Given the description of an element on the screen output the (x, y) to click on. 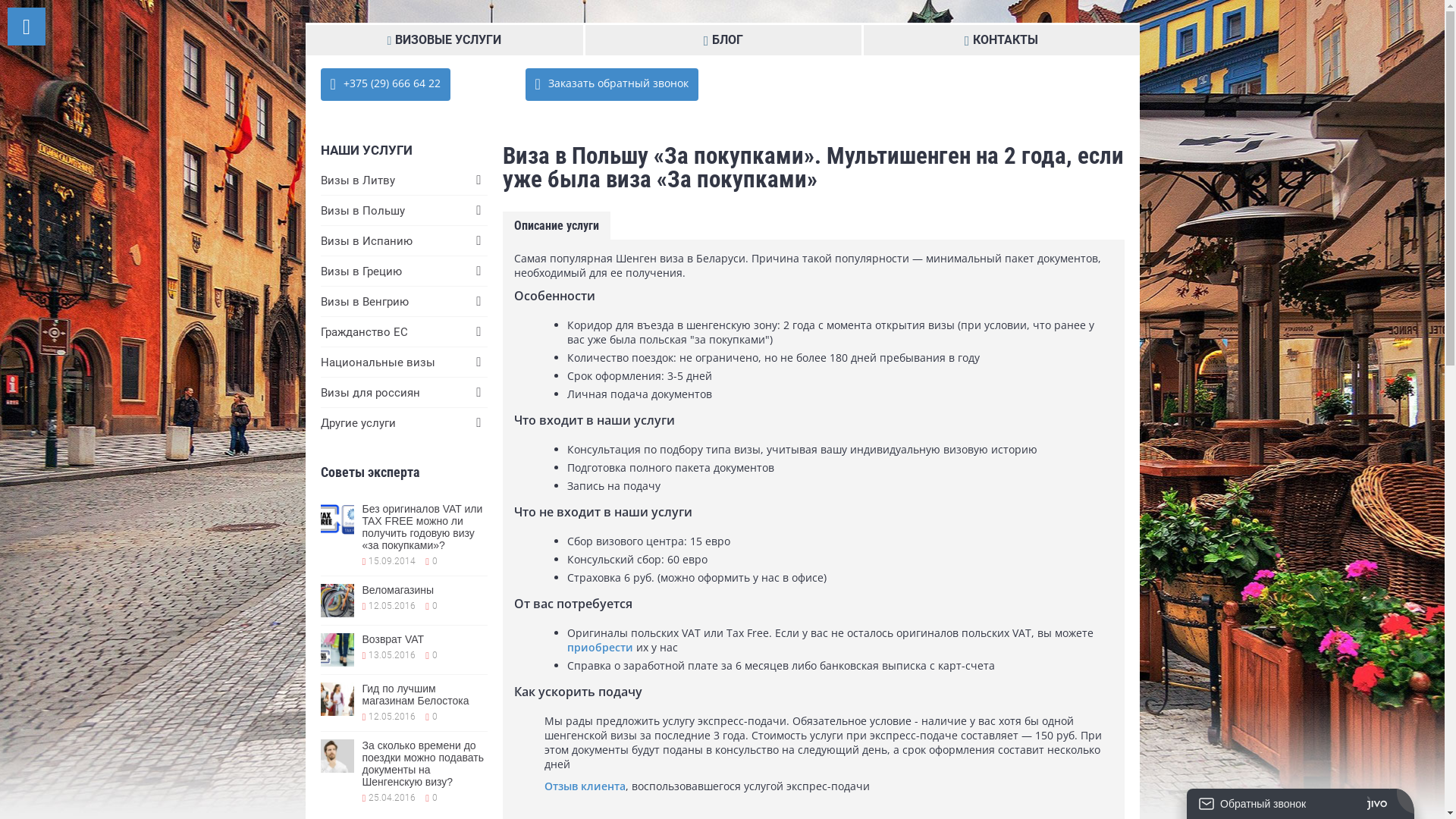
 +375 (29) 666 64 22 Element type: text (384, 84)
